Given the description of an element on the screen output the (x, y) to click on. 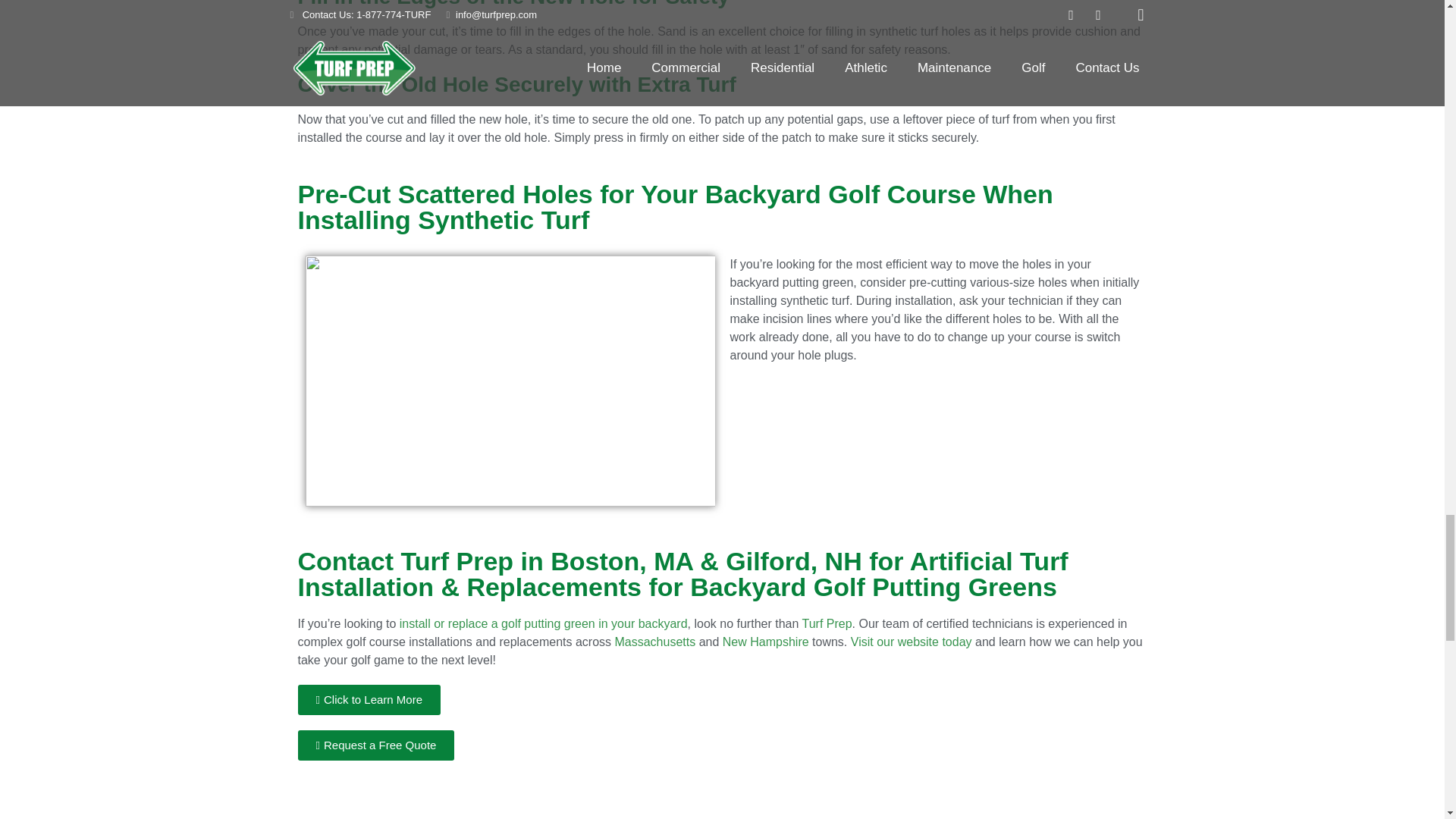
turf prep boston (722, 812)
